Given the description of an element on the screen output the (x, y) to click on. 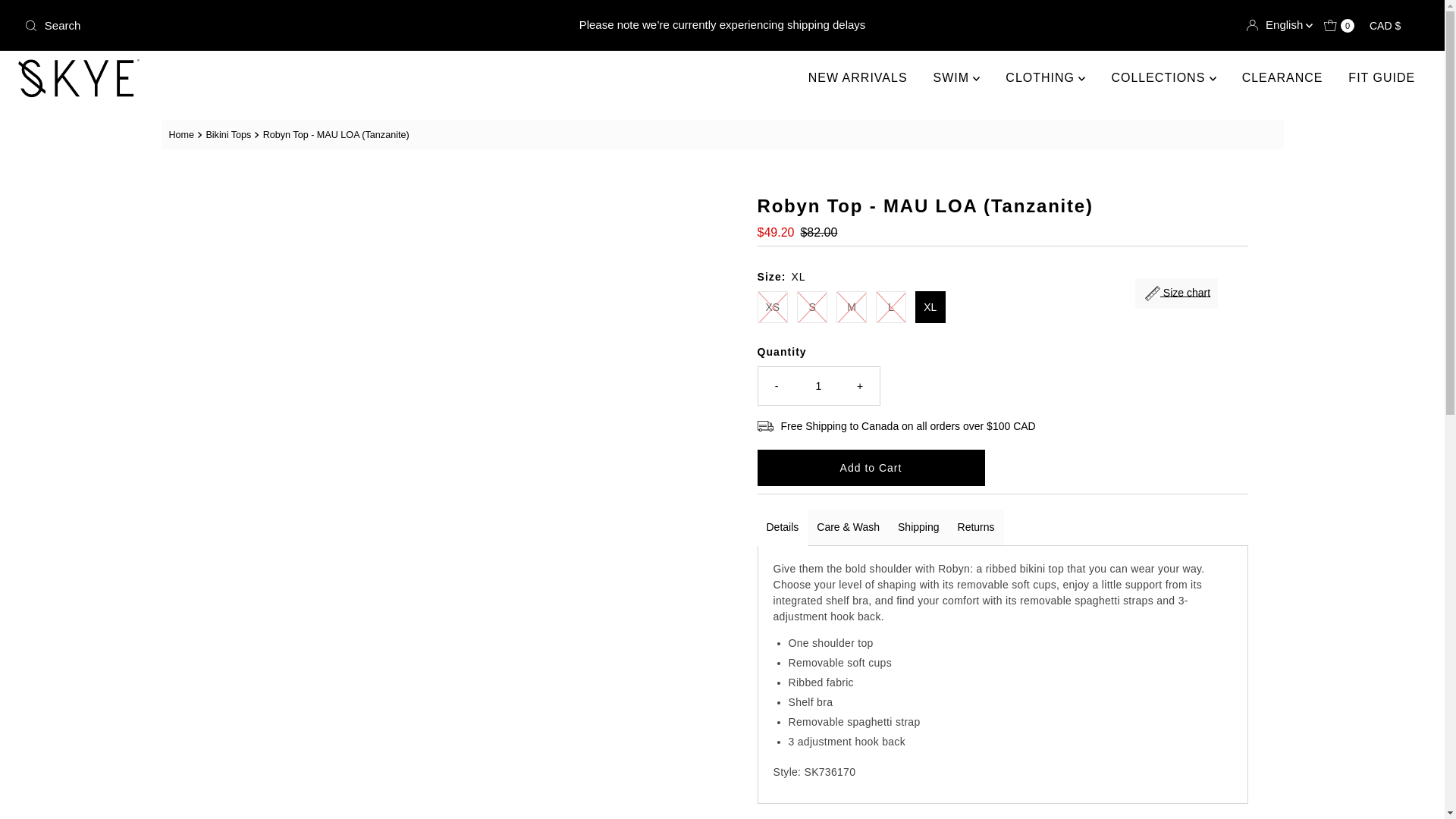
Back to the frontpage (183, 134)
Bikini Tops (229, 134)
1 (818, 385)
Search our store (248, 25)
Add to Cart (870, 467)
